Given the description of an element on the screen output the (x, y) to click on. 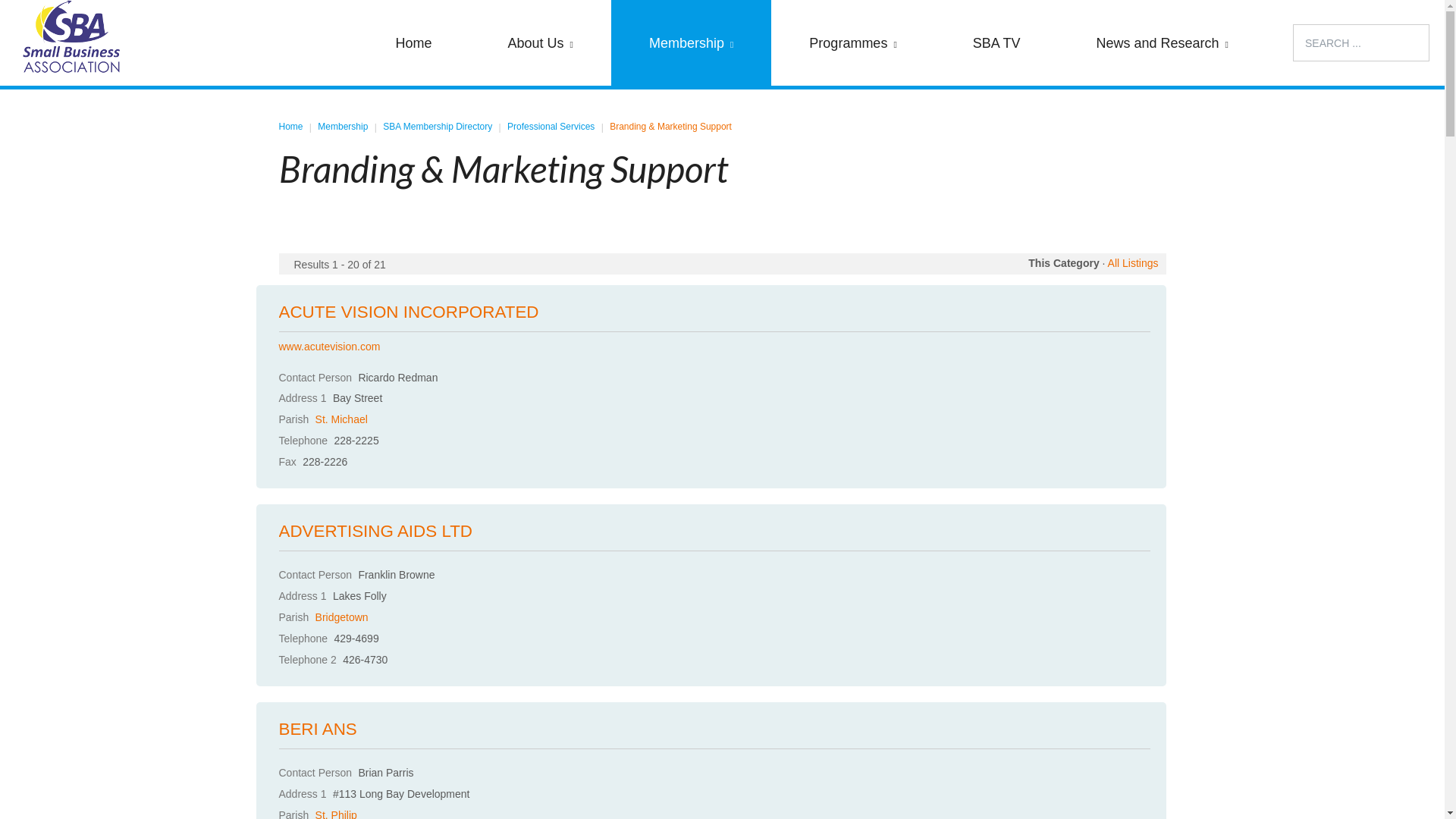
All Listings Element type: text (1132, 263)
Programmes Element type: text (852, 42)
Home Element type: text (291, 126)
News and Research Element type: text (1162, 42)
About Us Element type: text (539, 42)
Membership Element type: text (691, 42)
Bridgetown Element type: text (341, 617)
Membership Element type: text (342, 126)
SBA TV Element type: text (996, 42)
Professional Services Element type: text (550, 126)
www.acutevision.com Element type: text (329, 346)
SBA Membership Directory Element type: text (437, 126)
Home Element type: text (413, 42)
St. Michael Element type: text (341, 419)
